Given the description of an element on the screen output the (x, y) to click on. 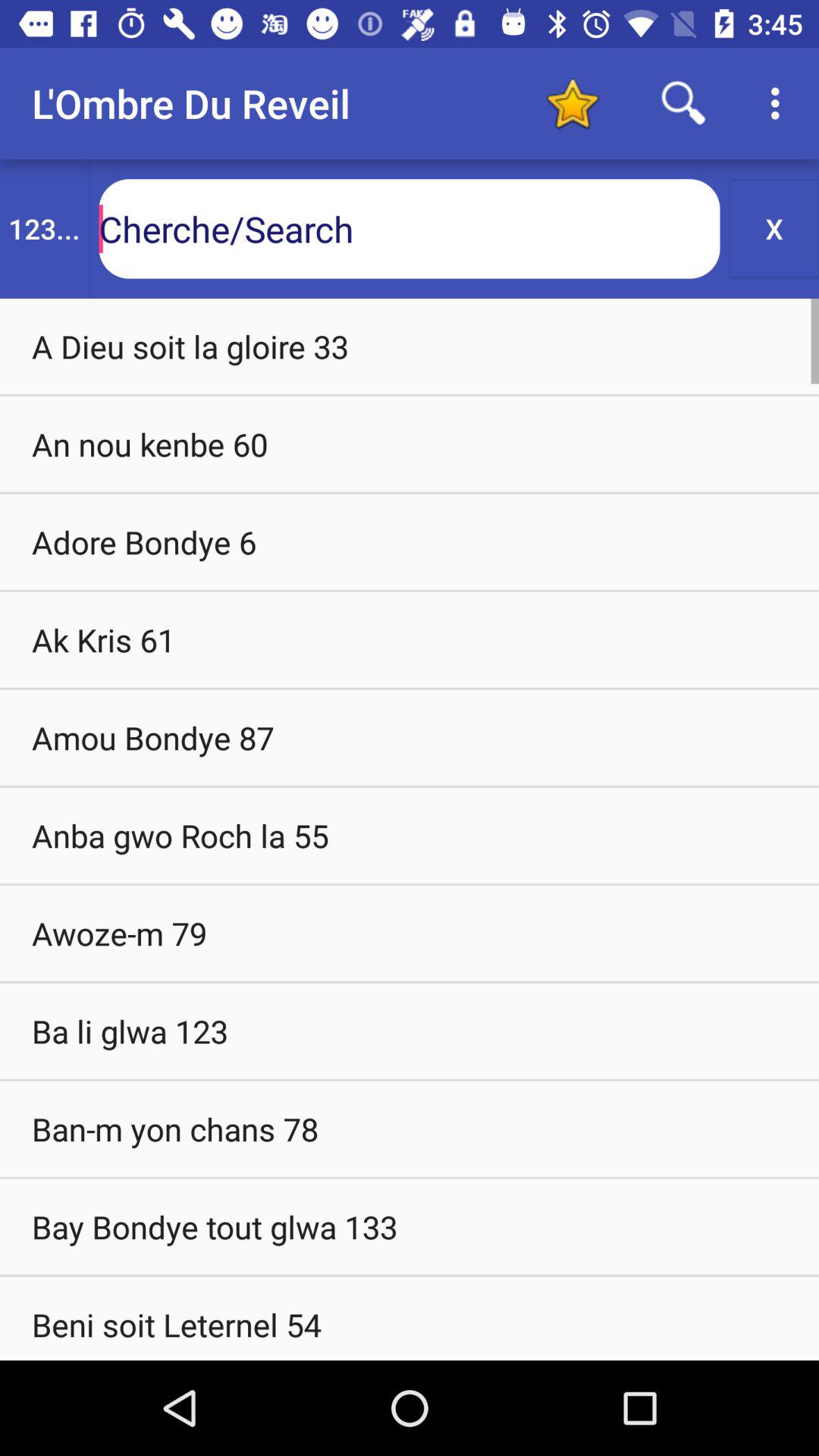
launch icon to the right of the l ombre du (571, 103)
